Given the description of an element on the screen output the (x, y) to click on. 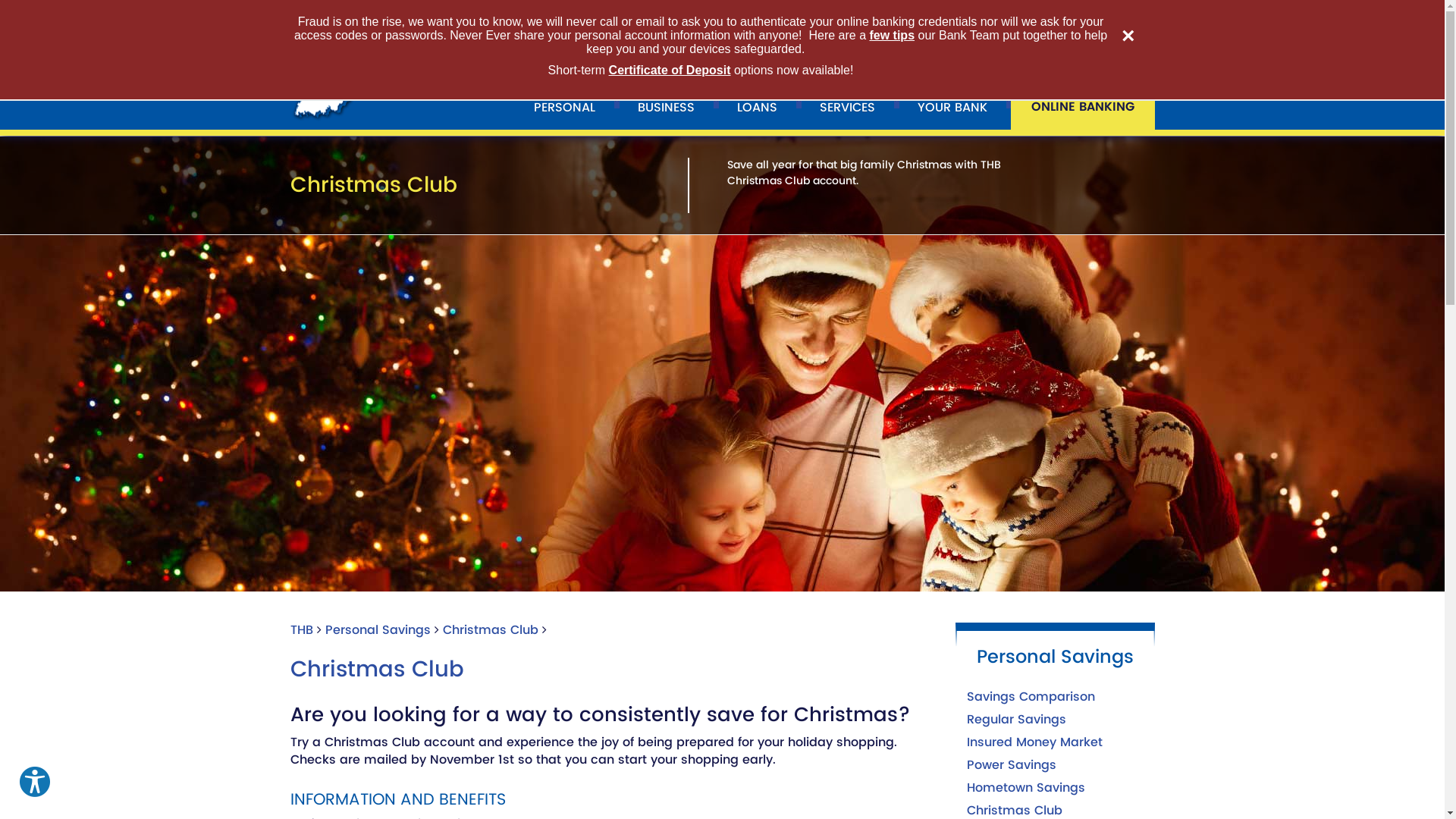
Power Savings Element type: text (1011, 765)
PERSONAL Element type: text (563, 103)
few tips Element type: text (891, 34)
Insured Money Market Element type: text (1034, 742)
Certificate of Deposit Element type: text (669, 69)
Personal Savings Element type: text (376, 630)
Locations Element type: text (700, 18)
THB Element type: text (300, 630)
SERVICES Element type: text (847, 103)
BUSINESS Element type: text (665, 103)
Hometown Savings Element type: text (1025, 787)
Savings Comparison Element type: text (1030, 696)
Christmas Club Element type: text (490, 630)
Search Now Element type: text (1139, 18)
LOANS Element type: text (756, 103)
YOUR BANK Element type: text (951, 103)
(419) 542-7726 Element type: text (881, 18)
Contact Us Element type: text (781, 18)
Regular Savings Element type: text (1016, 719)
